Given the description of an element on the screen output the (x, y) to click on. 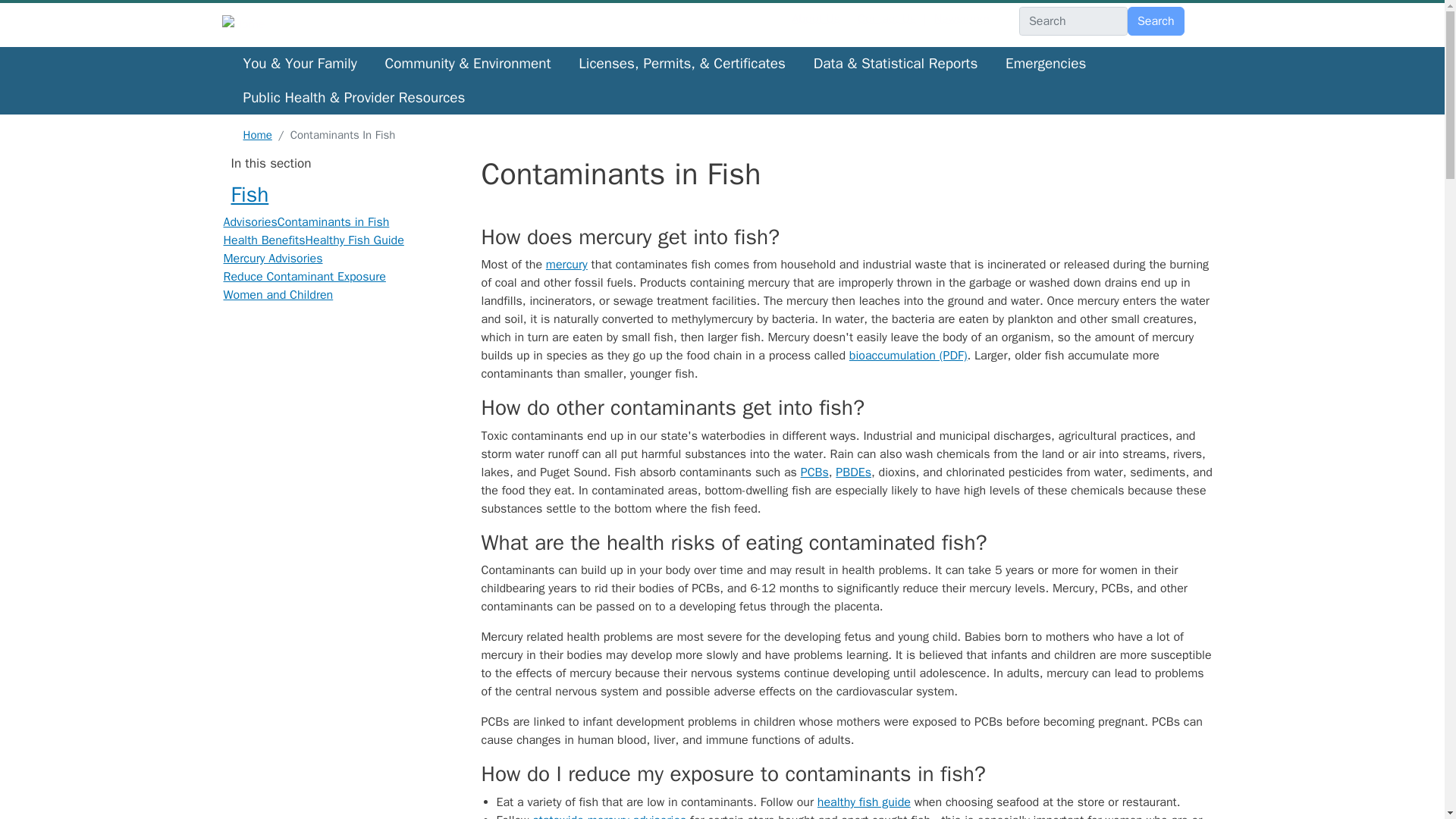
Search (1155, 21)
Newsroom (961, 18)
Enter the terms you wish to search for. (1072, 21)
Home (248, 24)
About Us (816, 18)
Contact Us (886, 18)
